Given the description of an element on the screen output the (x, y) to click on. 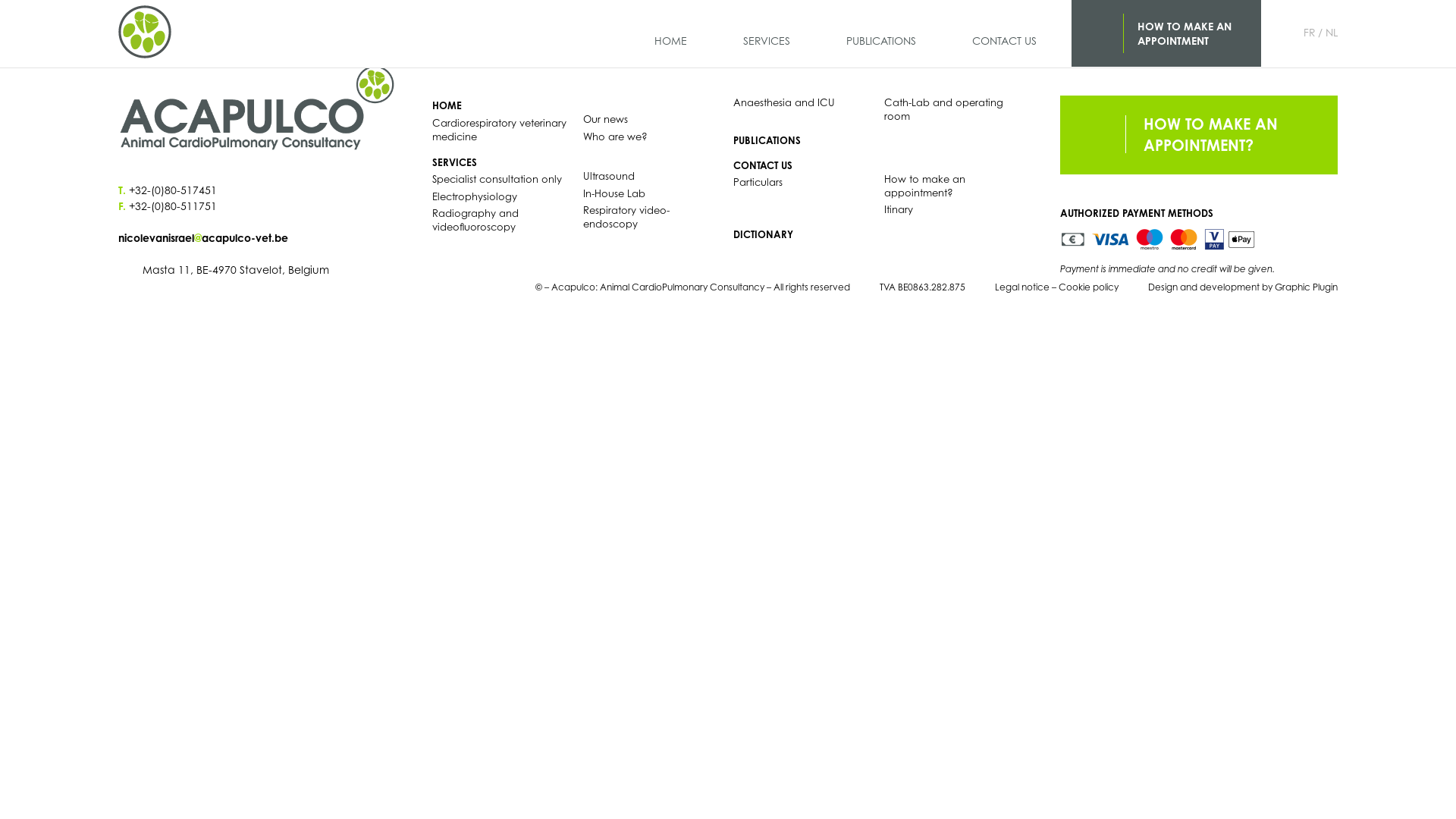
SERVICES Element type: text (454, 162)
HOME Element type: text (446, 105)
DICTIONARY Element type: text (763, 233)
Who are we? Element type: text (614, 136)
Acapulco - Cardiorespiratory veterinary medicine Element type: hover (144, 32)
Particulars Element type: text (757, 181)
CONTACT US Element type: text (762, 165)
Radiography and videofluoroscopy Element type: text (475, 219)
FR Element type: text (1312, 32)
nicolevanisrael@acapulco-vet.be Element type: text (256, 237)
Anaesthesia and ICU Element type: text (783, 102)
Masta 11, BE-4970 Stavelot, Belgium Element type: text (223, 269)
HOME Element type: text (670, 34)
Itinary Element type: text (898, 209)
Cookie policy Element type: text (1088, 286)
Our news Element type: text (604, 118)
HOW TO MAKE AN APPOINTMENT Element type: text (1166, 33)
PUBLICATIONS Element type: text (881, 34)
Cath-Lab and operating room Element type: text (943, 109)
Respiratory video-endoscopy Element type: text (625, 216)
Electrophysiology Element type: text (474, 196)
How to make an appointment? Element type: text (924, 185)
NL Element type: text (1331, 32)
PUBLICATIONS Element type: text (766, 140)
Legal notice Element type: text (1021, 286)
CONTACT US Element type: text (1003, 34)
HOW TO MAKE AN APPOINTMENT? Element type: text (1198, 134)
Specialist consultation only Element type: text (496, 178)
In-House Lab Element type: text (613, 193)
SERVICES Element type: text (766, 34)
Ultrasound Element type: text (607, 175)
Cardiorespiratory veterinary medicine Element type: text (499, 129)
Graphic Plugin Element type: text (1305, 286)
